Given the description of an element on the screen output the (x, y) to click on. 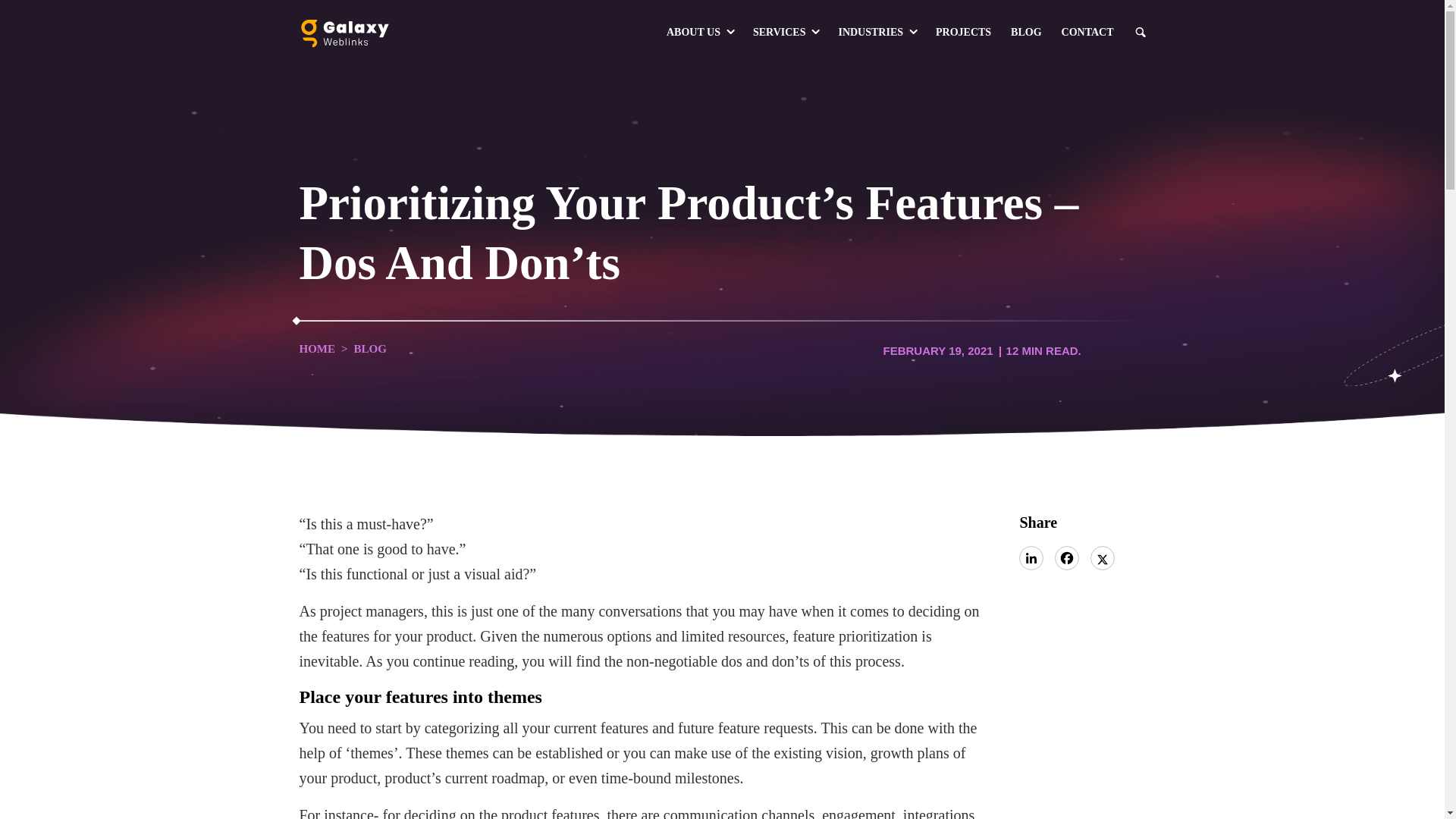
BLOG (1026, 33)
CONTACT (1087, 33)
Facebook (1066, 558)
LinkedIn (1031, 558)
PROJECTS (963, 33)
INDUSTRIES (877, 33)
X (1102, 558)
search (1139, 32)
ABOUT US (699, 33)
SERVICES (785, 33)
